Given the description of an element on the screen output the (x, y) to click on. 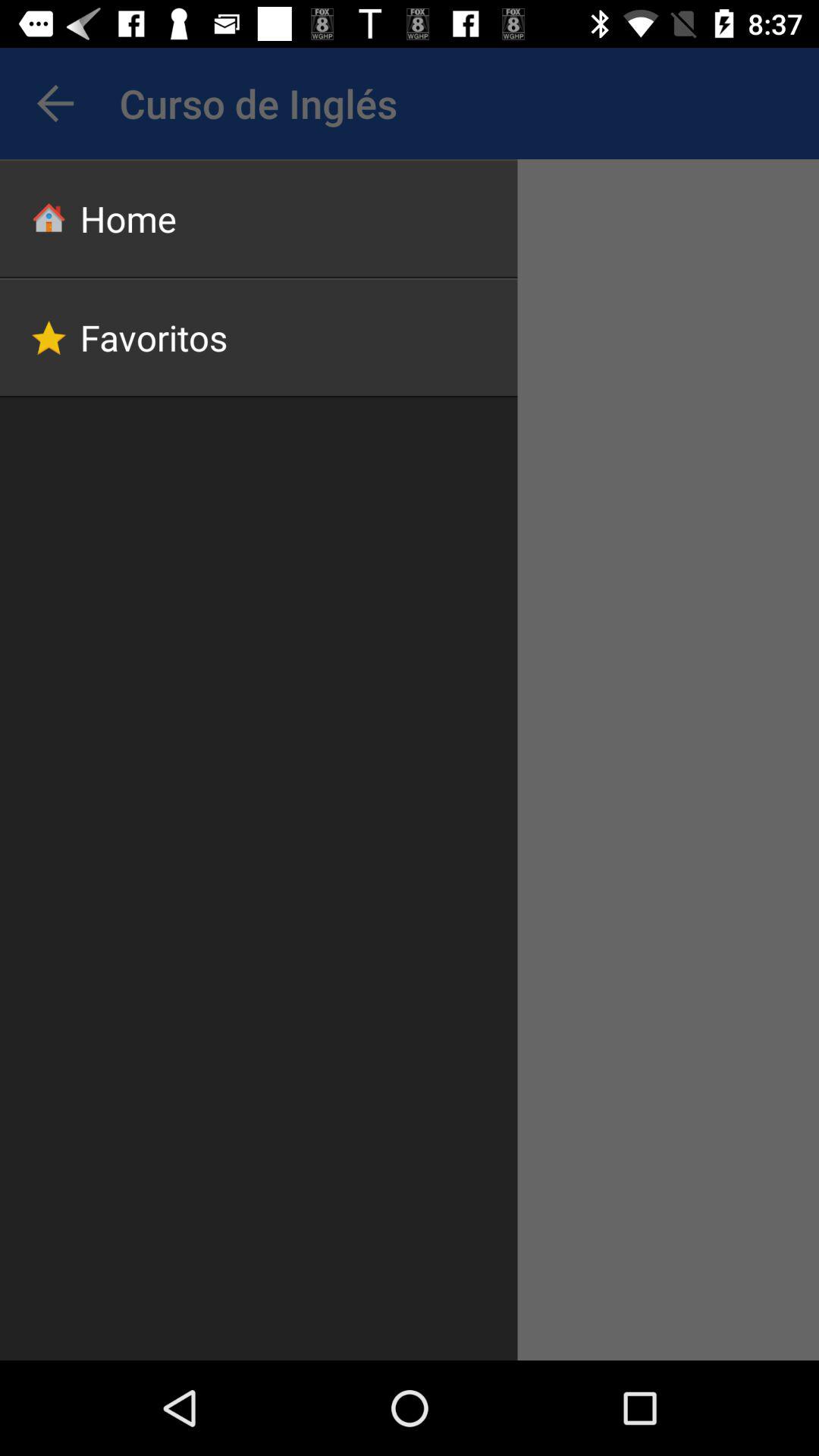
click app above the favoritos (258, 218)
